Given the description of an element on the screen output the (x, y) to click on. 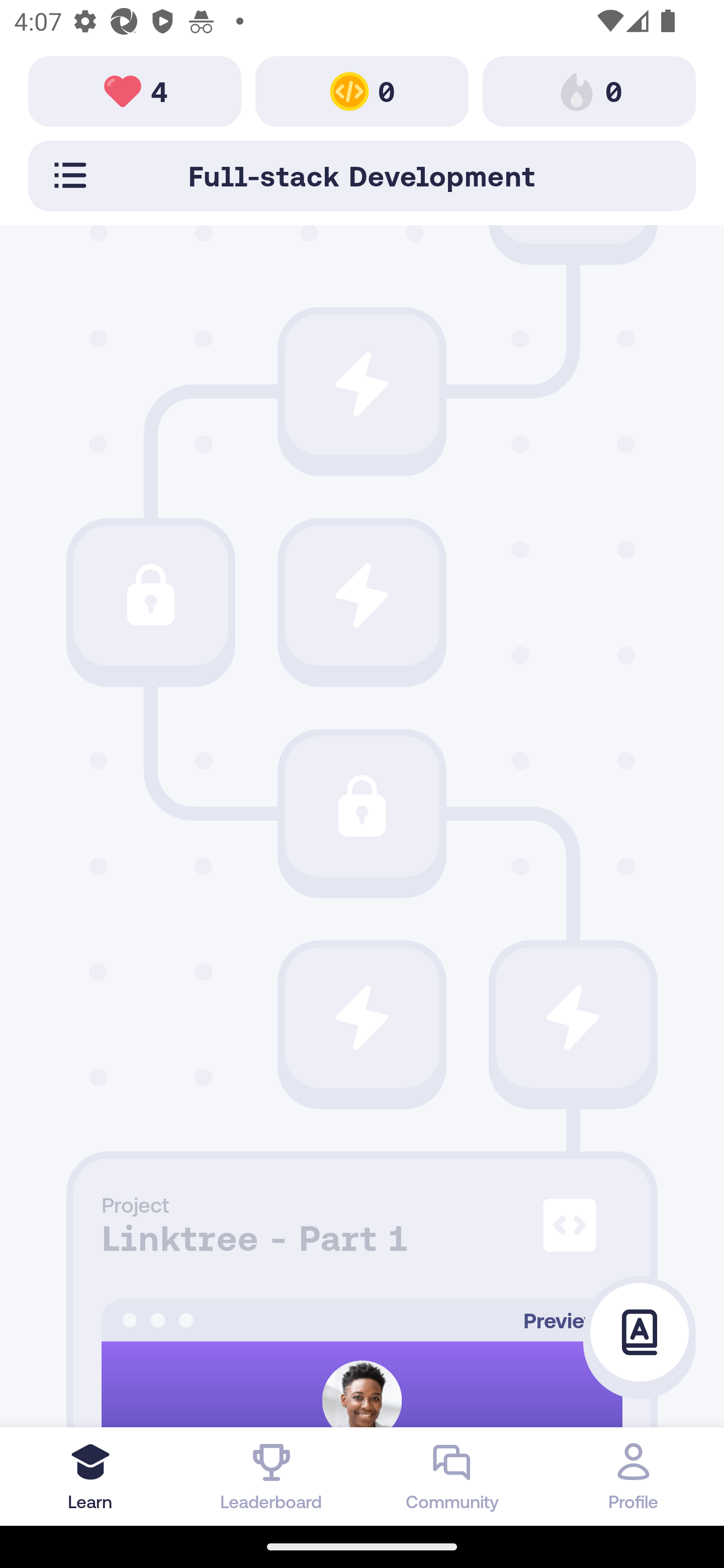
Path Toolbar Image 4 (134, 90)
Path Toolbar Image 0 (361, 90)
Path Toolbar Image 0 (588, 90)
Path Toolbar Selector Full-stack Development (361, 175)
Path Icon (361, 383)
Path Icon (150, 595)
Path Icon (361, 595)
Path Icon (361, 806)
Path Icon (361, 1017)
Path Icon (572, 1017)
Glossary Icon (639, 1332)
Leaderboard (271, 1475)
Community (452, 1475)
Profile (633, 1475)
